Given the description of an element on the screen output the (x, y) to click on. 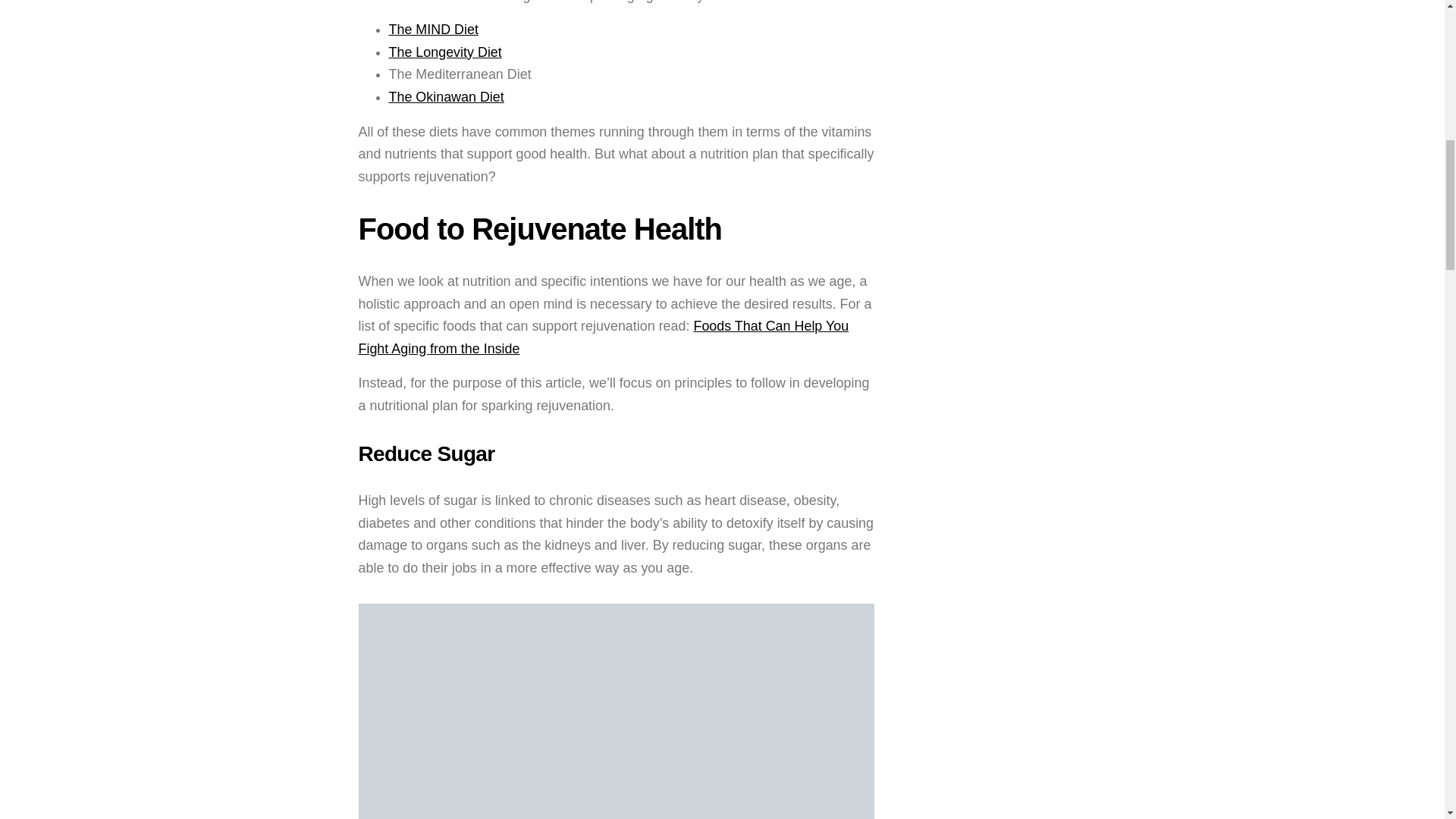
The MIND Diet (432, 29)
Foods That Can Help You Fight Aging from the Inside (603, 337)
The Okinawan Diet (445, 96)
The Longevity Diet (444, 52)
